Given the description of an element on the screen output the (x, y) to click on. 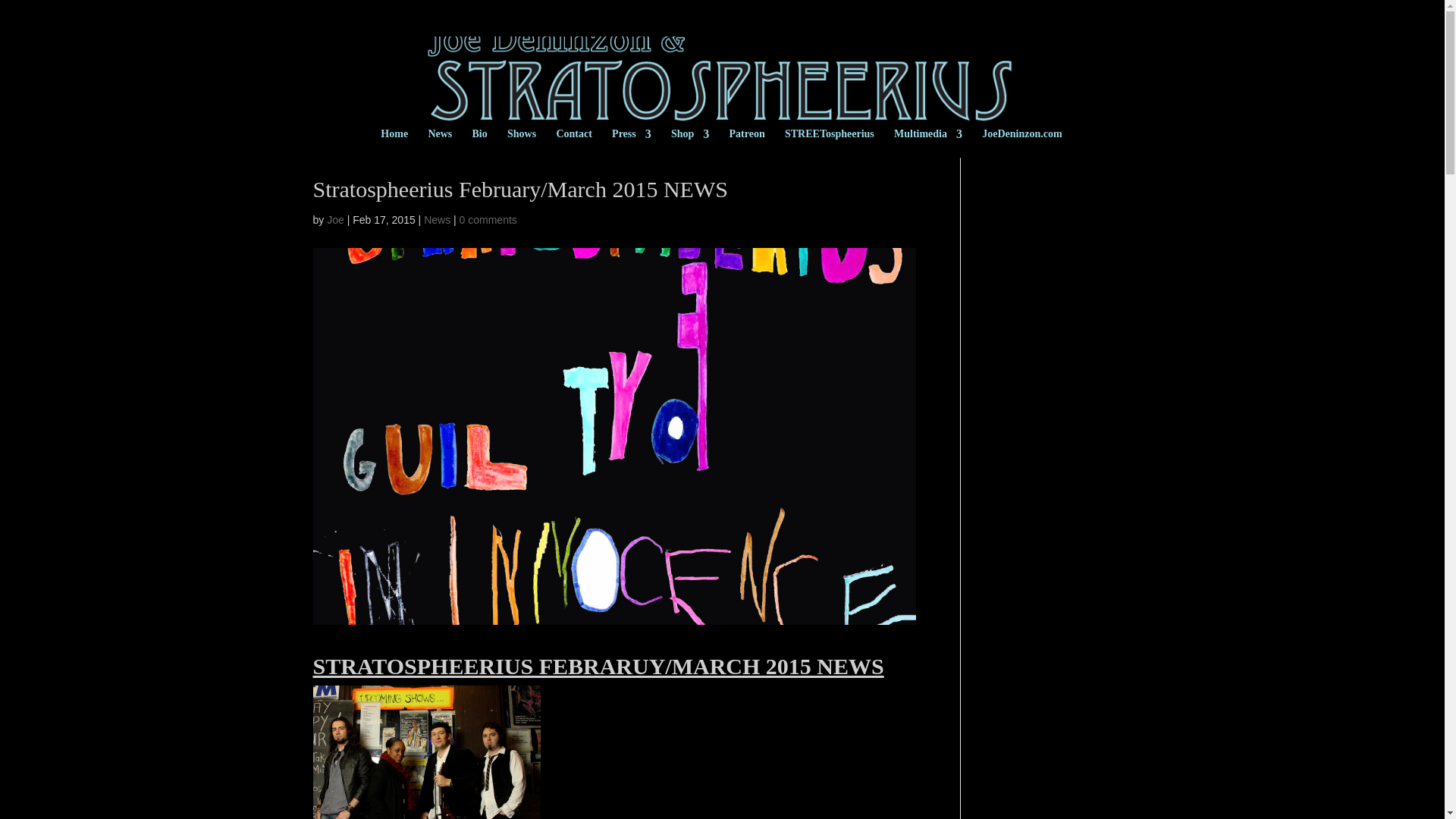
Shop (690, 143)
Shows (520, 143)
0 comments (488, 219)
Posts by Joe (334, 219)
Home (393, 143)
STREETospheerius (829, 143)
JoeDeninzon.com (1021, 143)
Press (630, 143)
News (436, 219)
Patreon (747, 143)
